Given the description of an element on the screen output the (x, y) to click on. 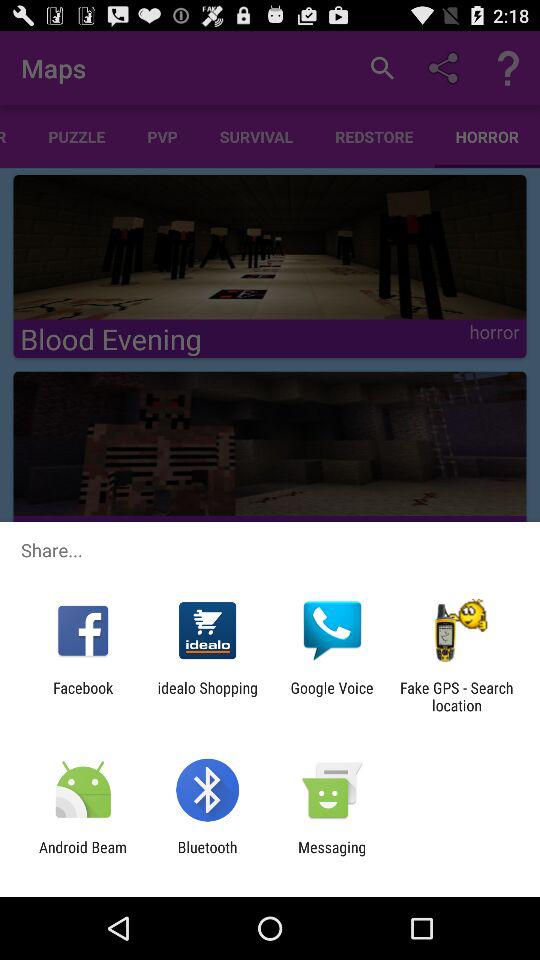
scroll to facebook app (83, 696)
